Given the description of an element on the screen output the (x, y) to click on. 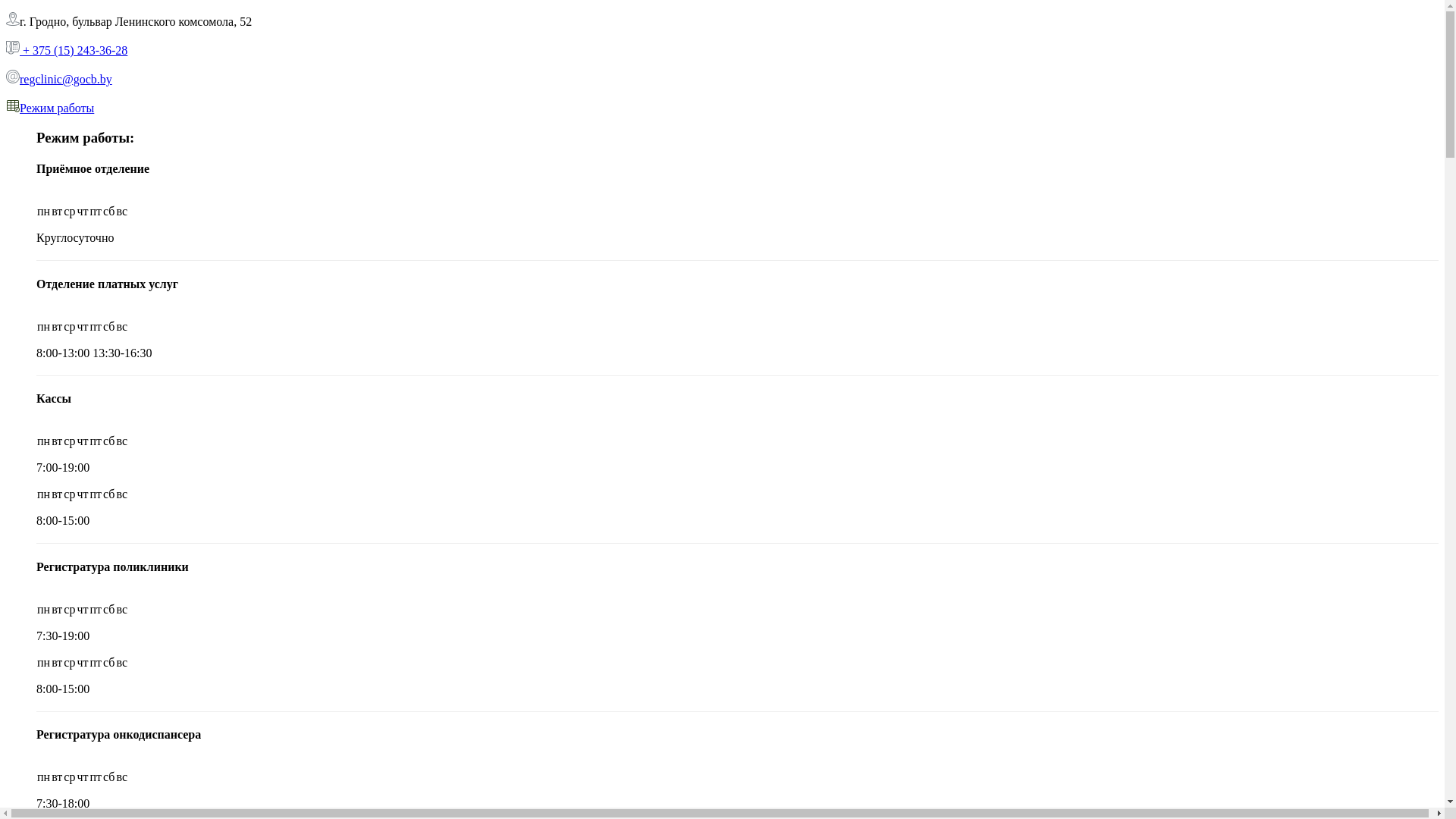
+ 375 (15) 243-36-28 Element type: text (73, 49)
regclinic@gocb.by Element type: text (65, 78)
